Given the description of an element on the screen output the (x, y) to click on. 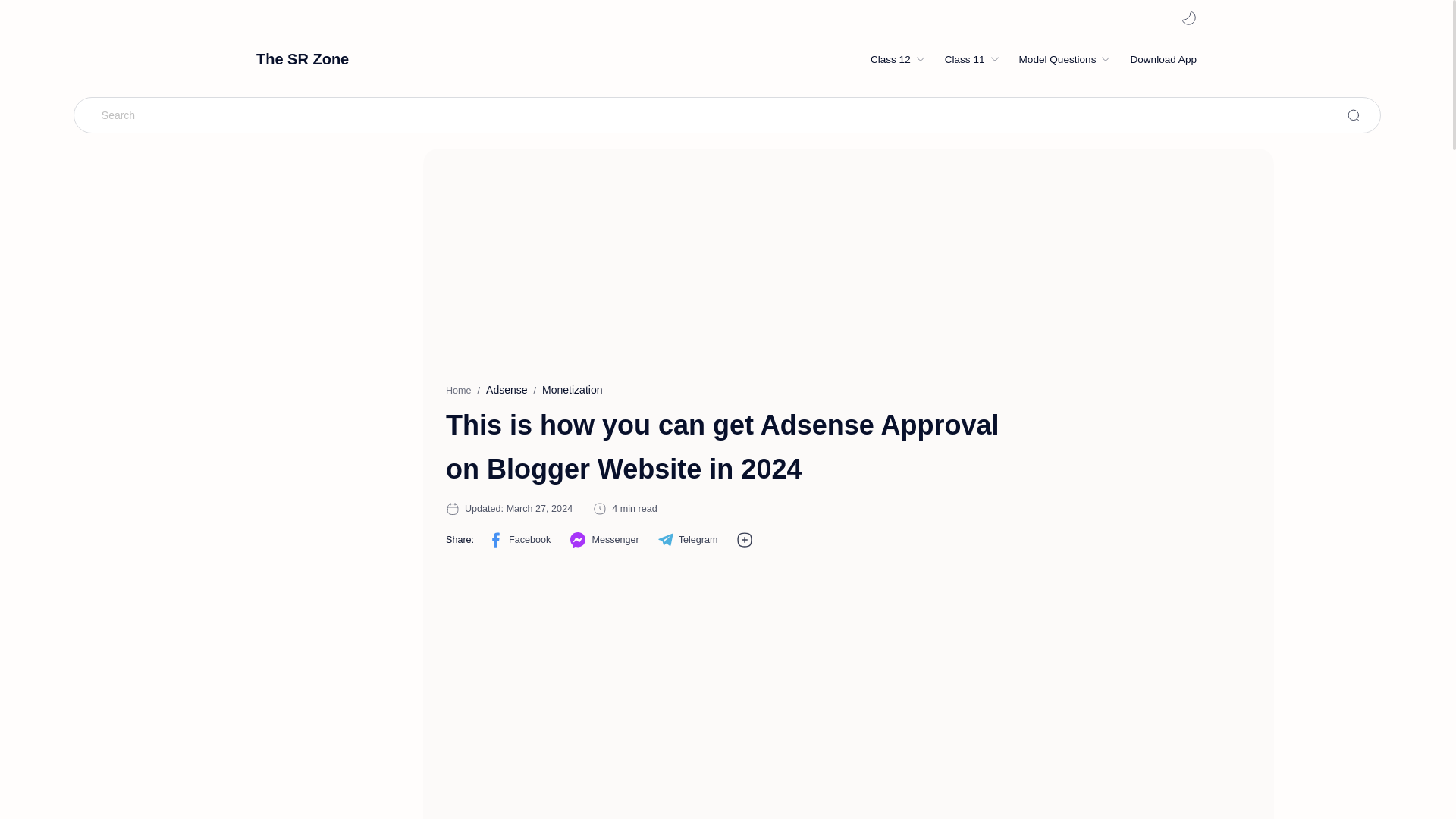
Monetization (571, 389)
Download App (1162, 58)
Home (458, 389)
Adsense (506, 389)
The SR Zone (302, 58)
Advertisement (740, 700)
Last updated: March 27, 2024 (518, 508)
